Given the description of an element on the screen output the (x, y) to click on. 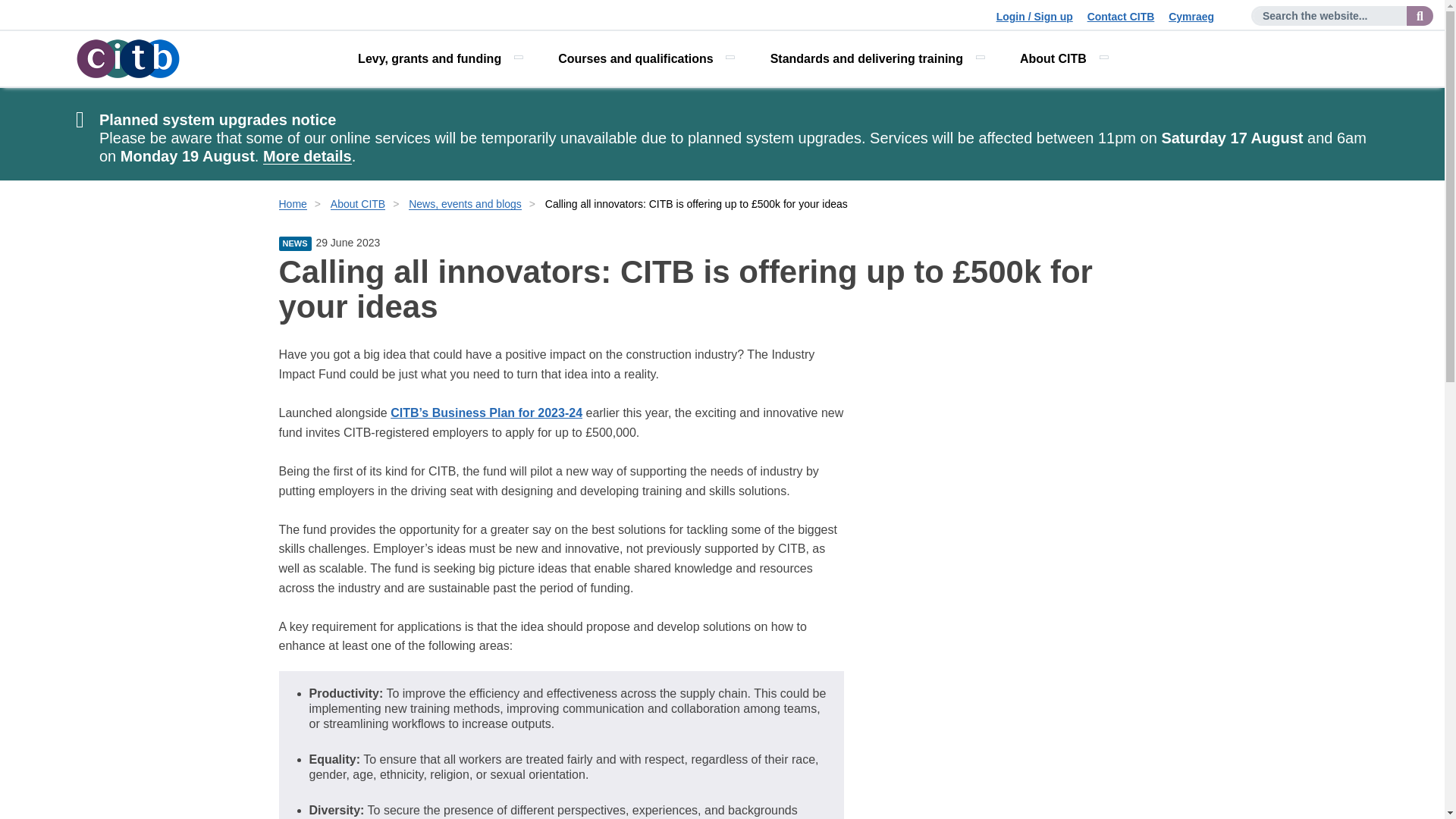
Courses and qualifications (644, 58)
Levy, grants and funding (438, 58)
Cymraeg (1191, 16)
Search the website... (1419, 15)
Business Plan (486, 412)
Contact CITB (1120, 16)
Urgent messages (307, 156)
